Given the description of an element on the screen output the (x, y) to click on. 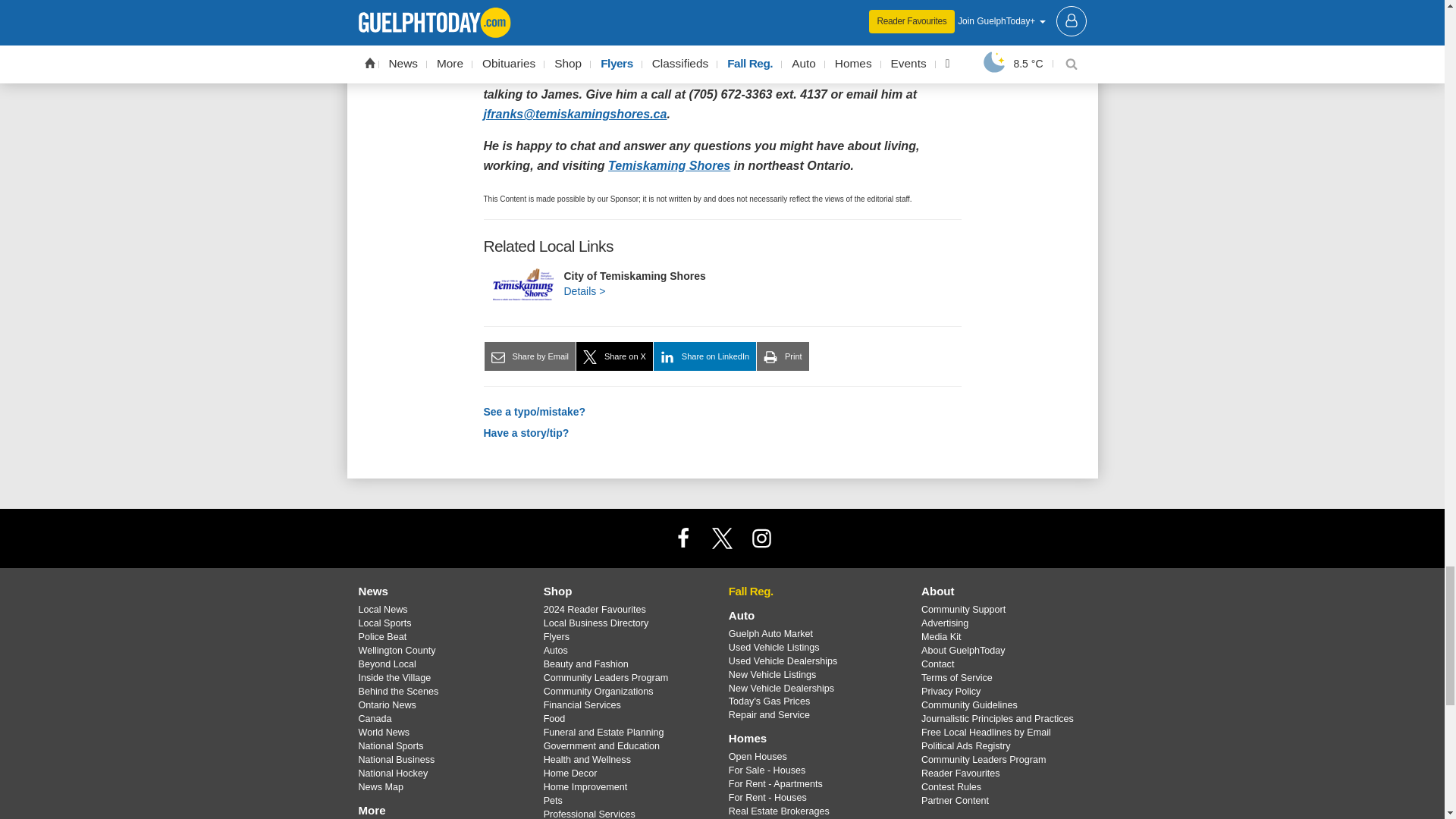
X (721, 538)
Facebook (683, 538)
Instagram (760, 538)
